Given the description of an element on the screen output the (x, y) to click on. 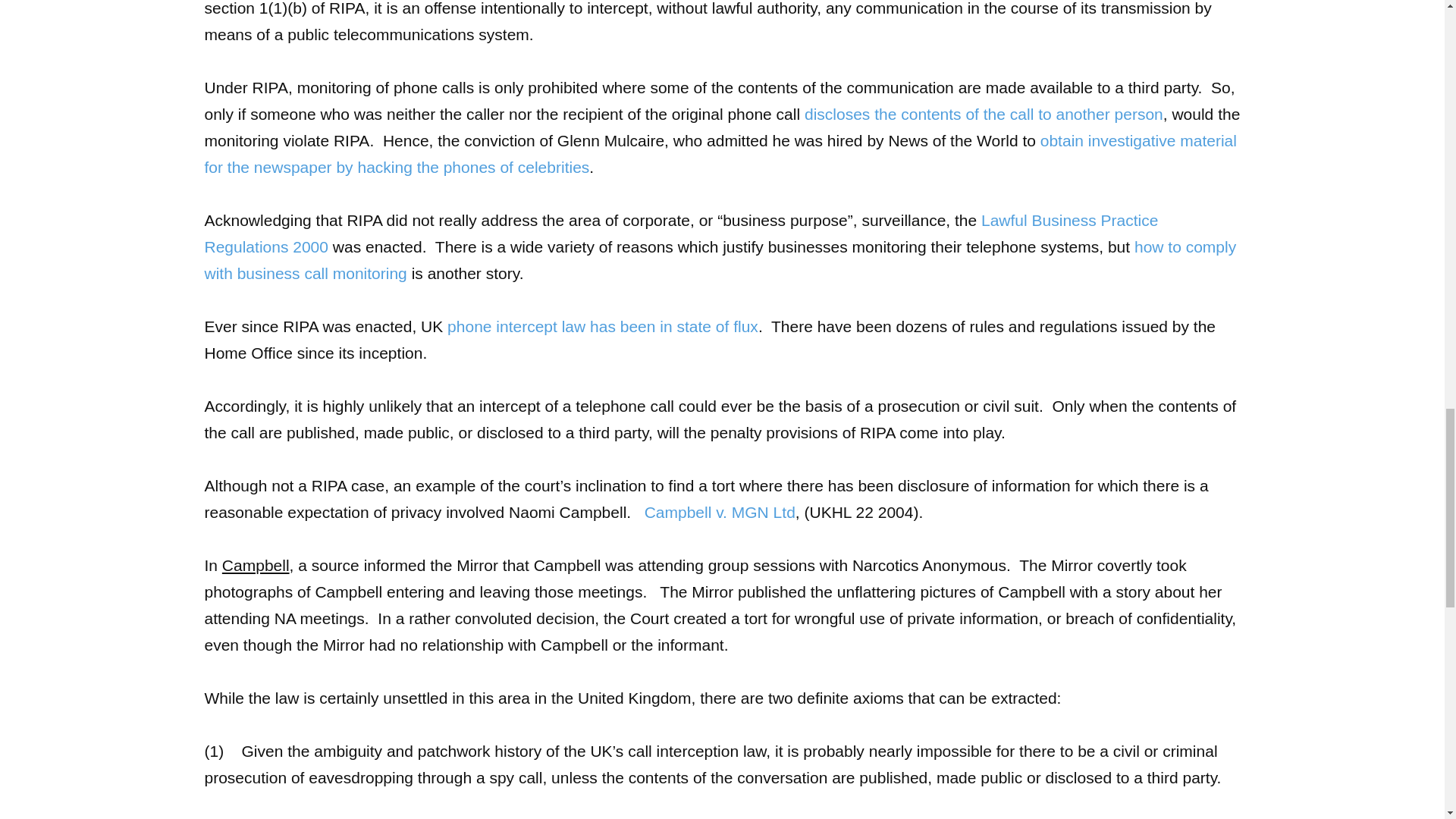
How To Comply With Business Call Monitoring (720, 259)
discloses the contents of the call to another person (984, 113)
Campbell v. MGN Ltd (719, 511)
how to comply with business call monitoring (720, 259)
phone intercept law has been in state of flux (602, 325)
Lawful Business Practice Regulations 2000 (681, 233)
